Given the description of an element on the screen output the (x, y) to click on. 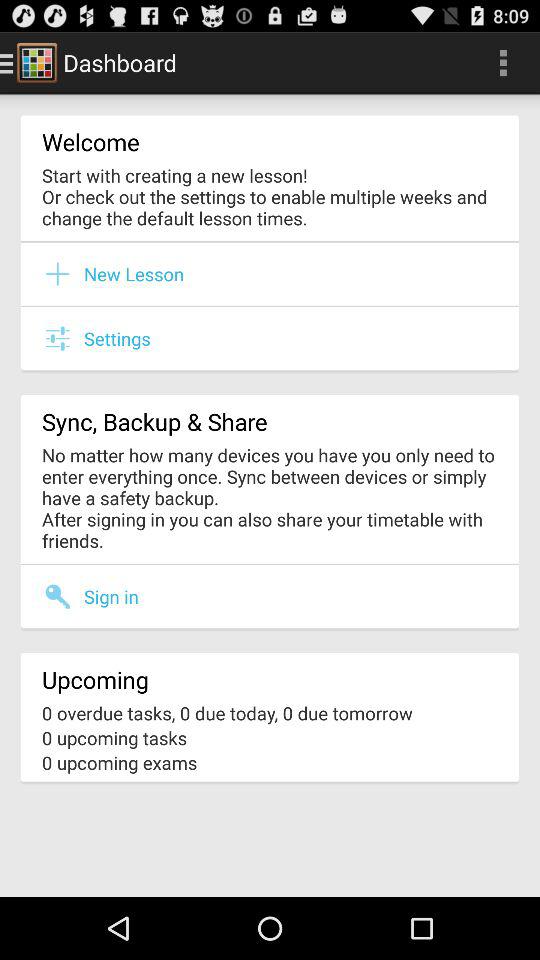
jump until the sign in (111, 596)
